Given the description of an element on the screen output the (x, y) to click on. 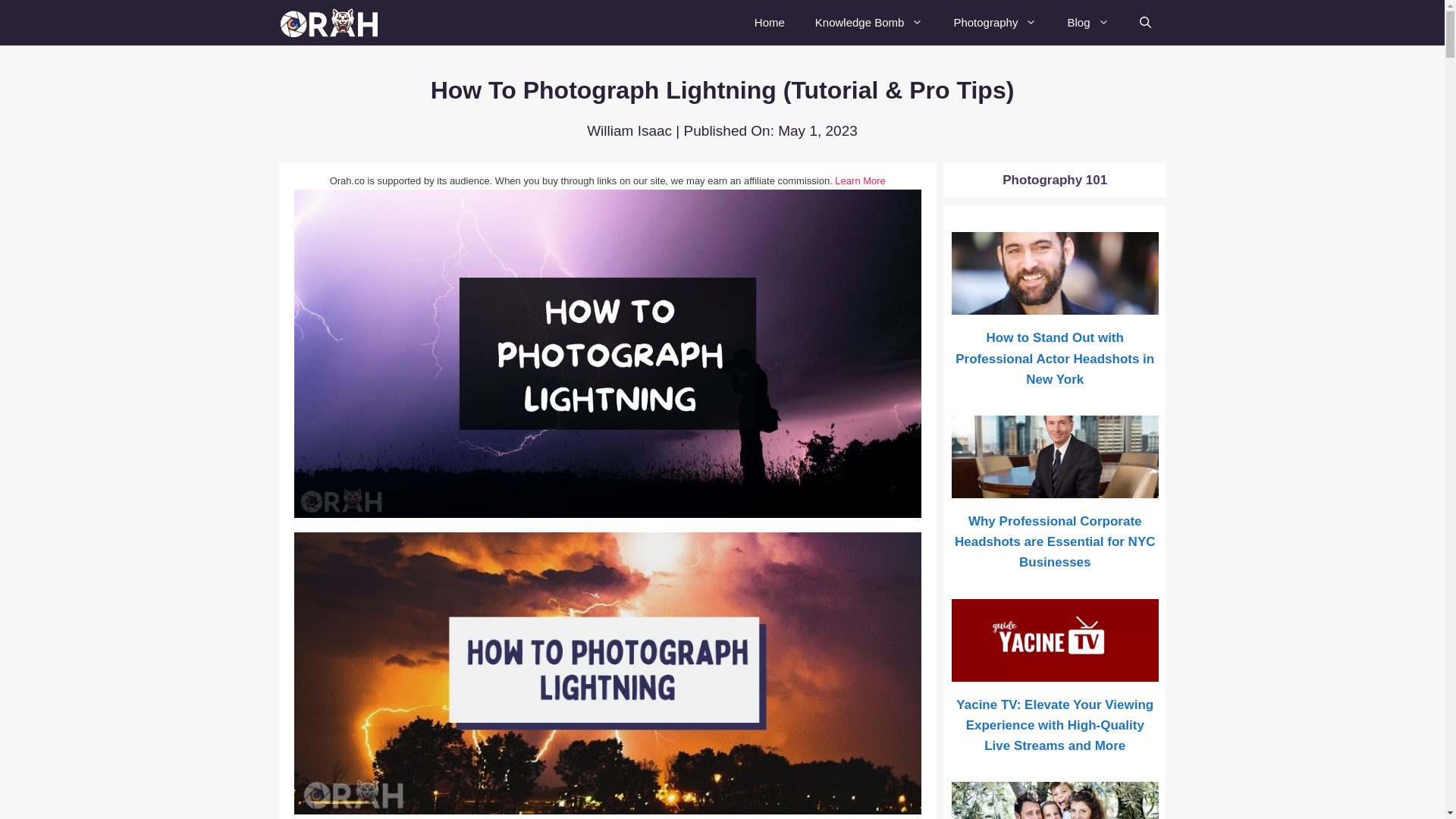
View all posts by William Isaac (628, 130)
Orah (335, 22)
Home (769, 22)
Orah (331, 22)
Knowledge Bomb (869, 22)
